Given the description of an element on the screen output the (x, y) to click on. 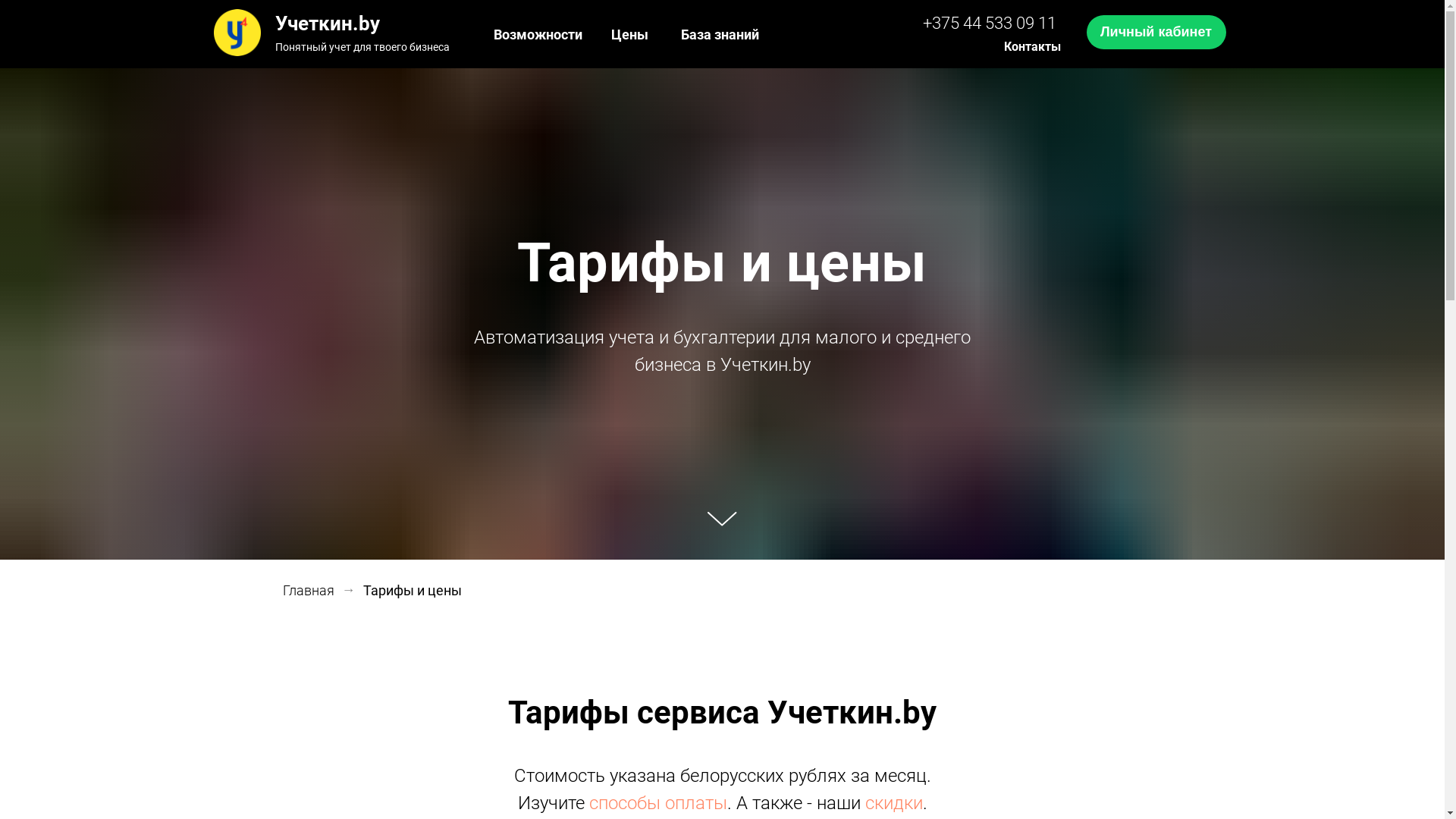
+375 44 533 09 11 Element type: text (988, 22)
